Given the description of an element on the screen output the (x, y) to click on. 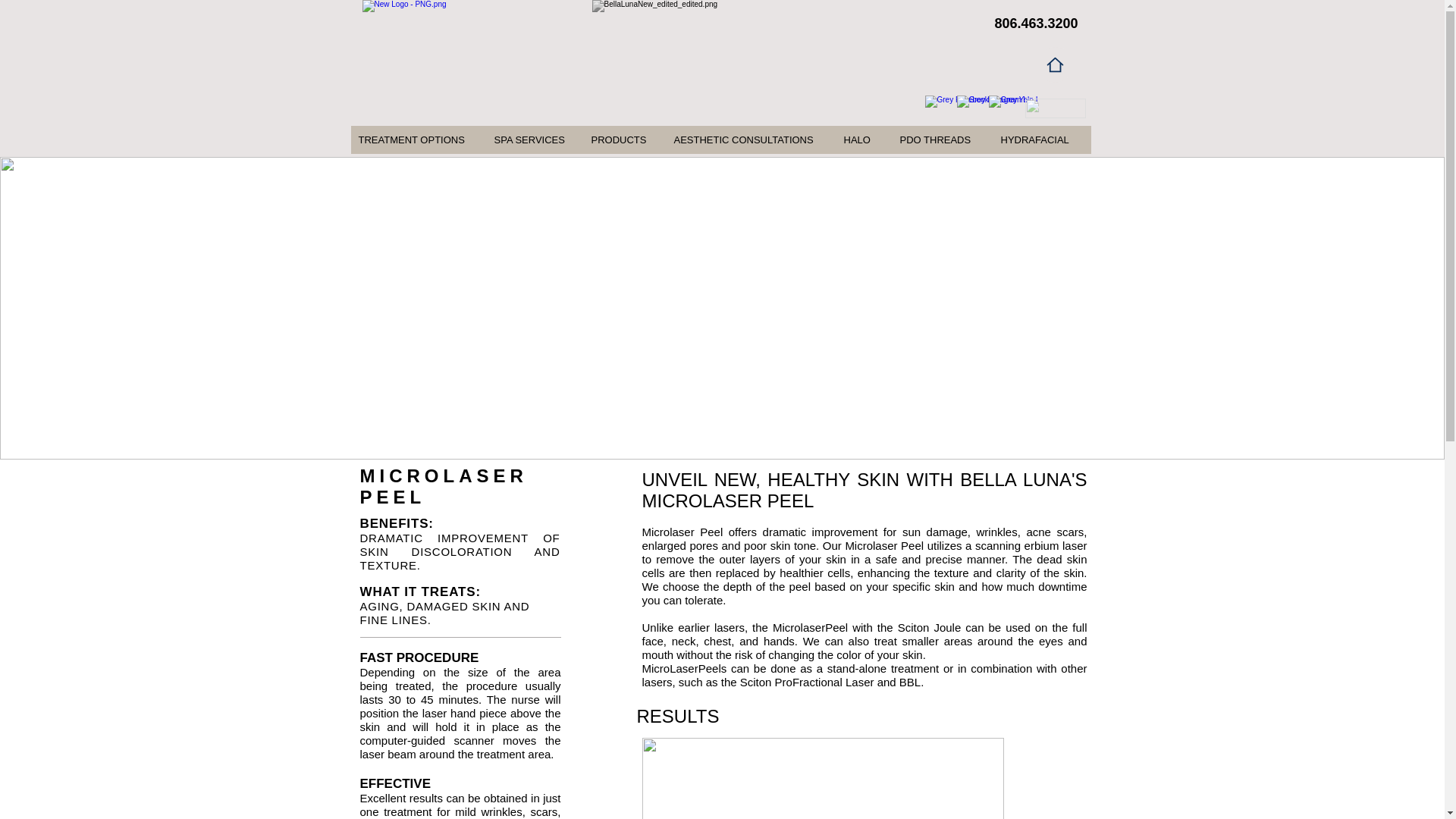
TREATMENT OPTIONS (417, 139)
PRODUCTS (623, 139)
HYDRAFACIAL (1040, 139)
AESTHETIC CONSULTATIONS (750, 139)
SPA SERVICES (533, 139)
HALO (863, 139)
PDO THREADS (941, 139)
